Given the description of an element on the screen output the (x, y) to click on. 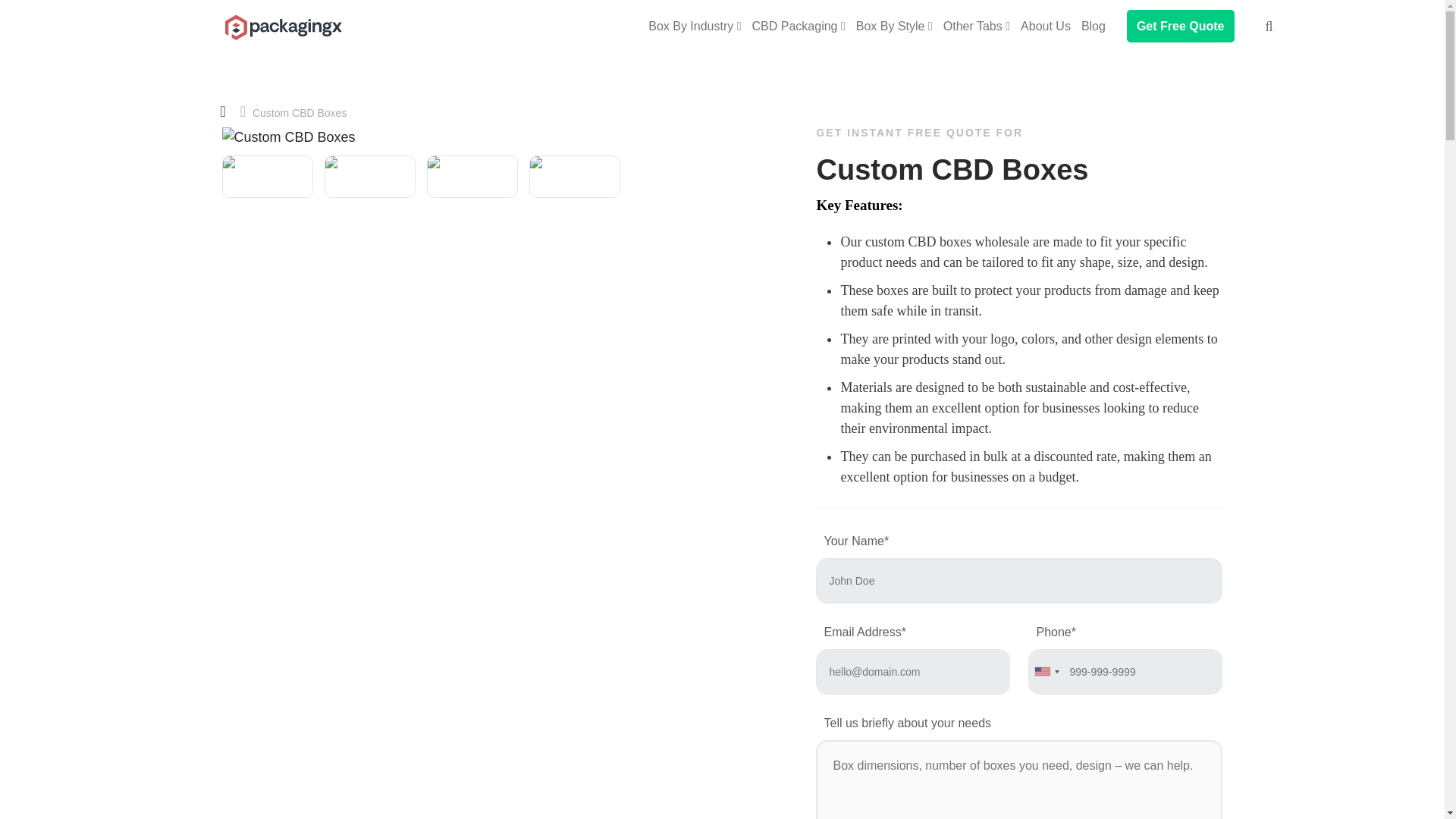
Get Free Qoute (1180, 25)
Box By Industry (694, 26)
Custom CBD Boxes (281, 17)
Get Free Quote (1180, 25)
Other Tabs (976, 26)
CBD Packaging (799, 26)
Box By Style (894, 26)
About Us (1045, 26)
Blog (1093, 26)
